Given the description of an element on the screen output the (x, y) to click on. 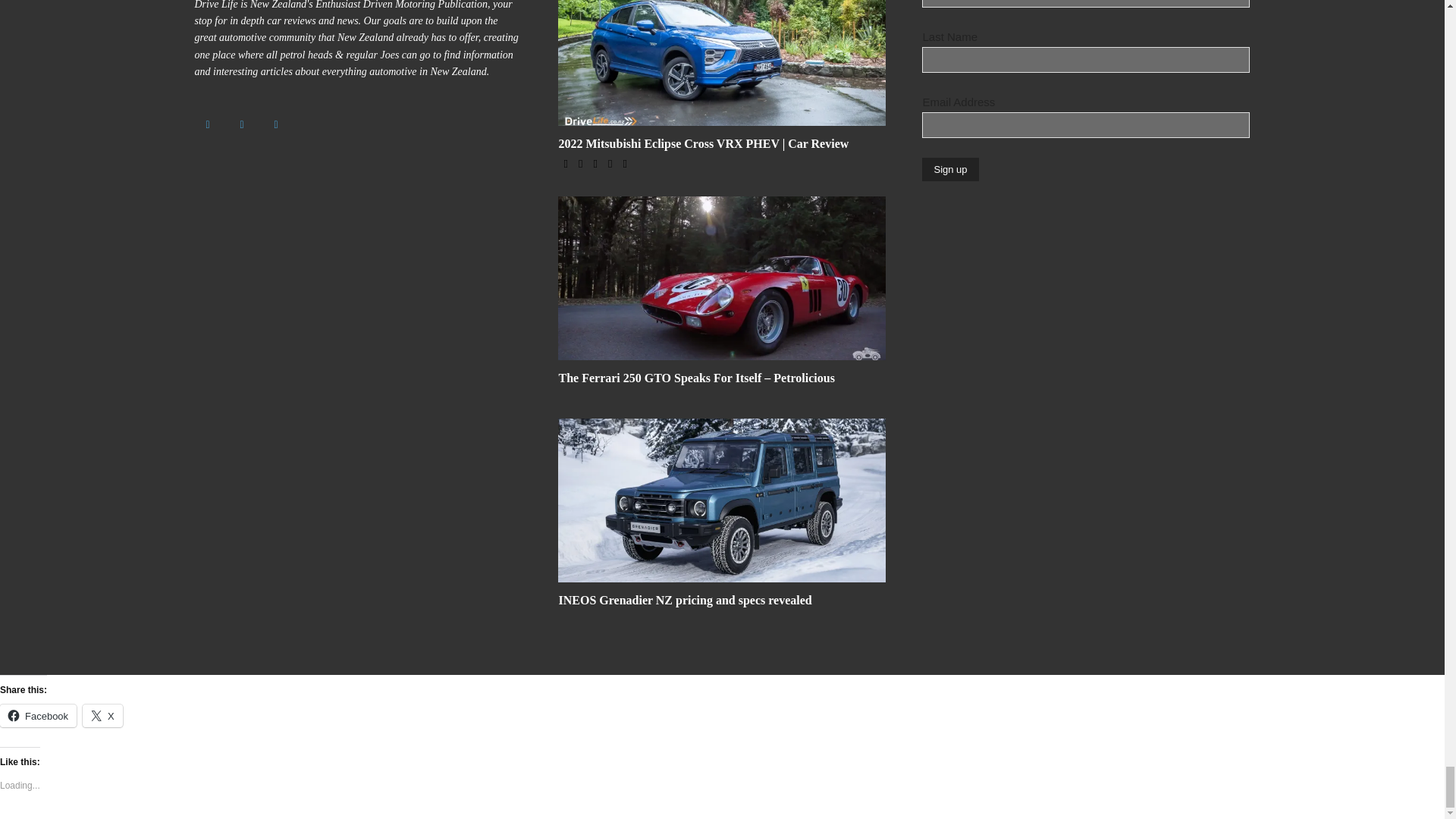
Sign up (949, 169)
